Given the description of an element on the screen output the (x, y) to click on. 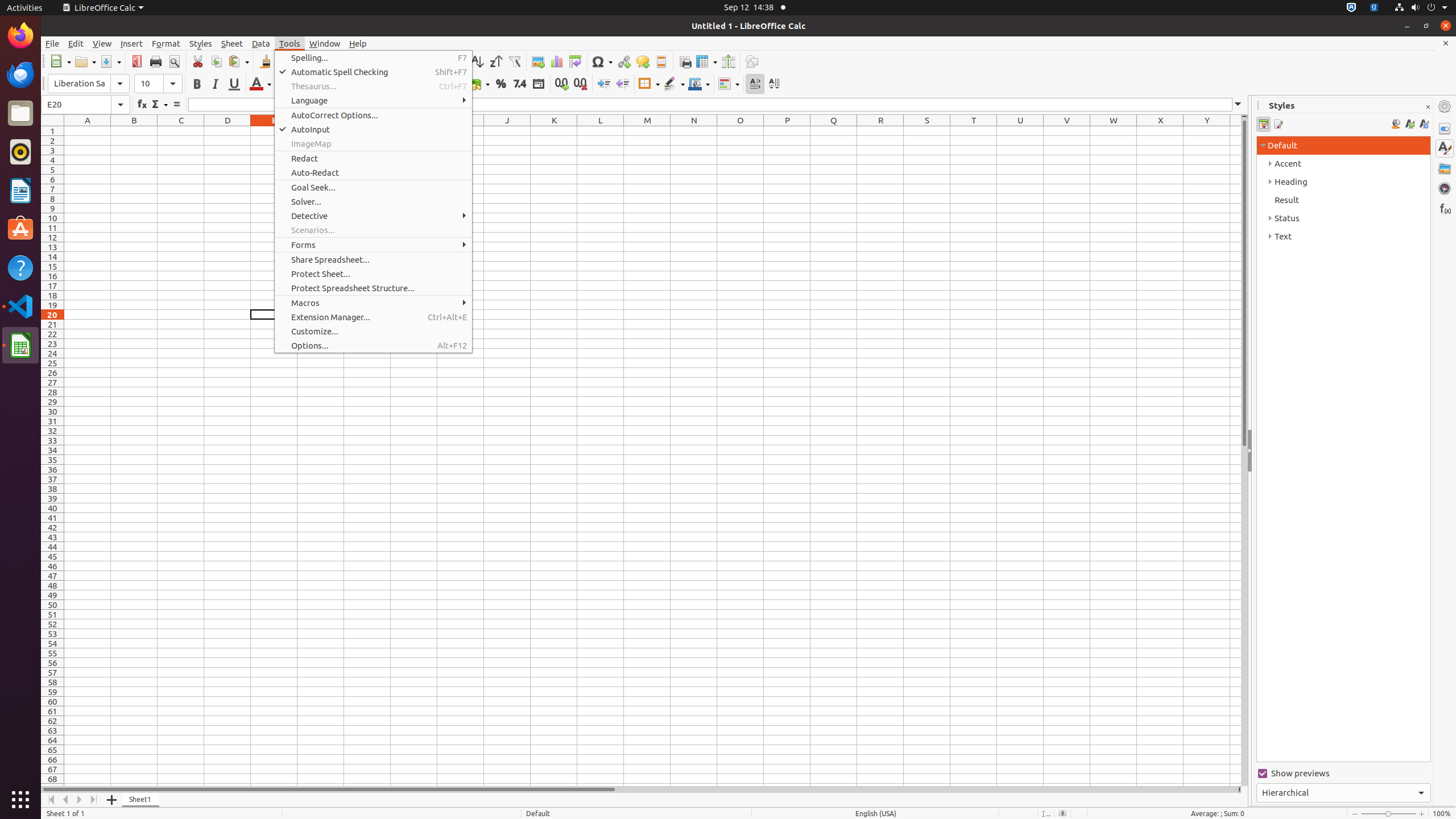
N1 Element type: table-cell (693, 130)
Solver... Element type: menu-item (373, 201)
Sheet Element type: menu (231, 43)
Date Element type: push-button (537, 83)
Y1 Element type: table-cell (1206, 130)
